Given the description of an element on the screen output the (x, y) to click on. 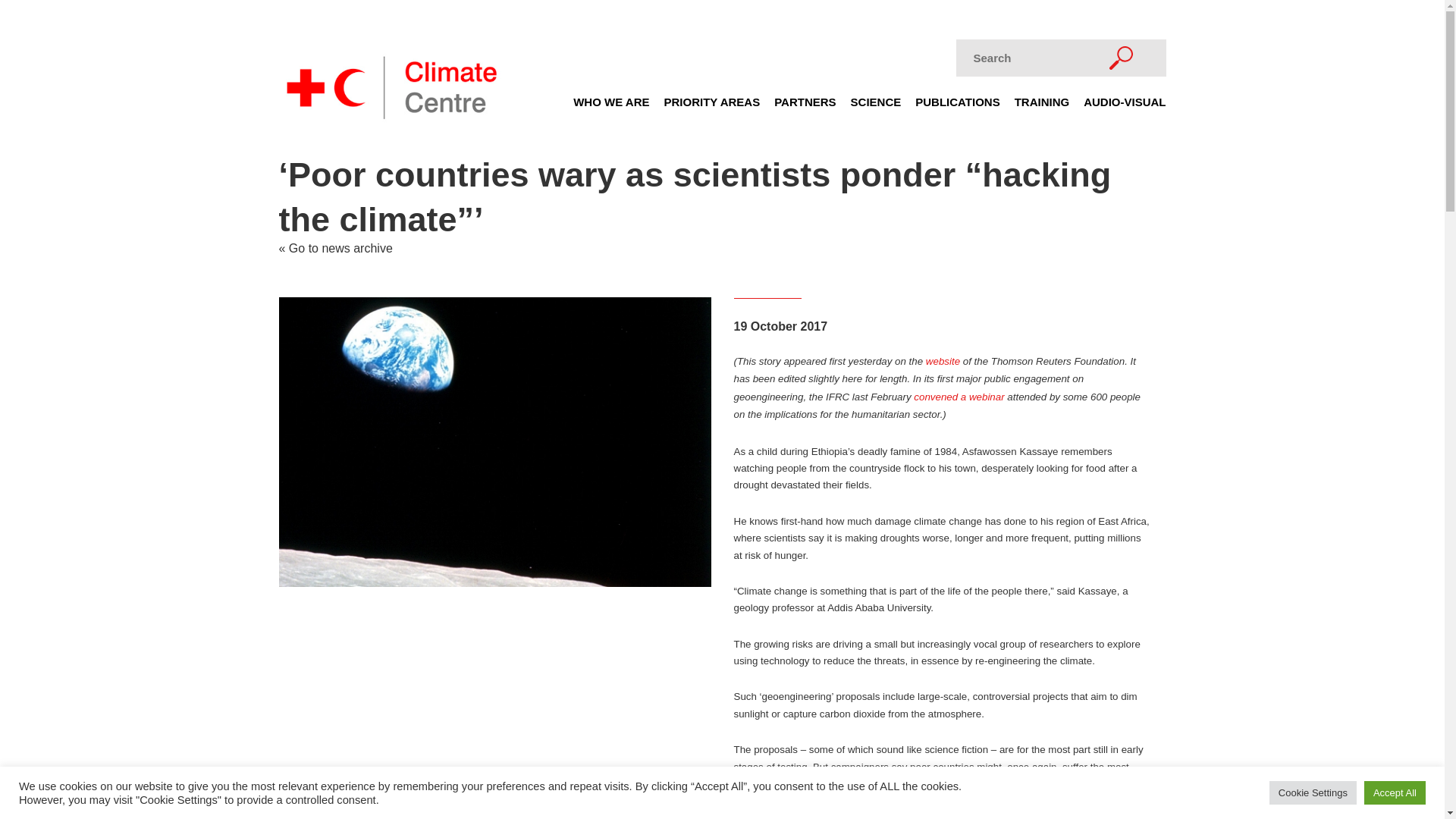
PUBLICATIONS (956, 105)
PARTNERS (804, 105)
AUDIO-VISUAL (1124, 105)
SCIENCE (875, 105)
website (942, 360)
PRIORITY AREAS (711, 105)
WHO WE ARE (611, 105)
convened a webinar (959, 396)
TRAINING (1042, 105)
